Given the description of an element on the screen output the (x, y) to click on. 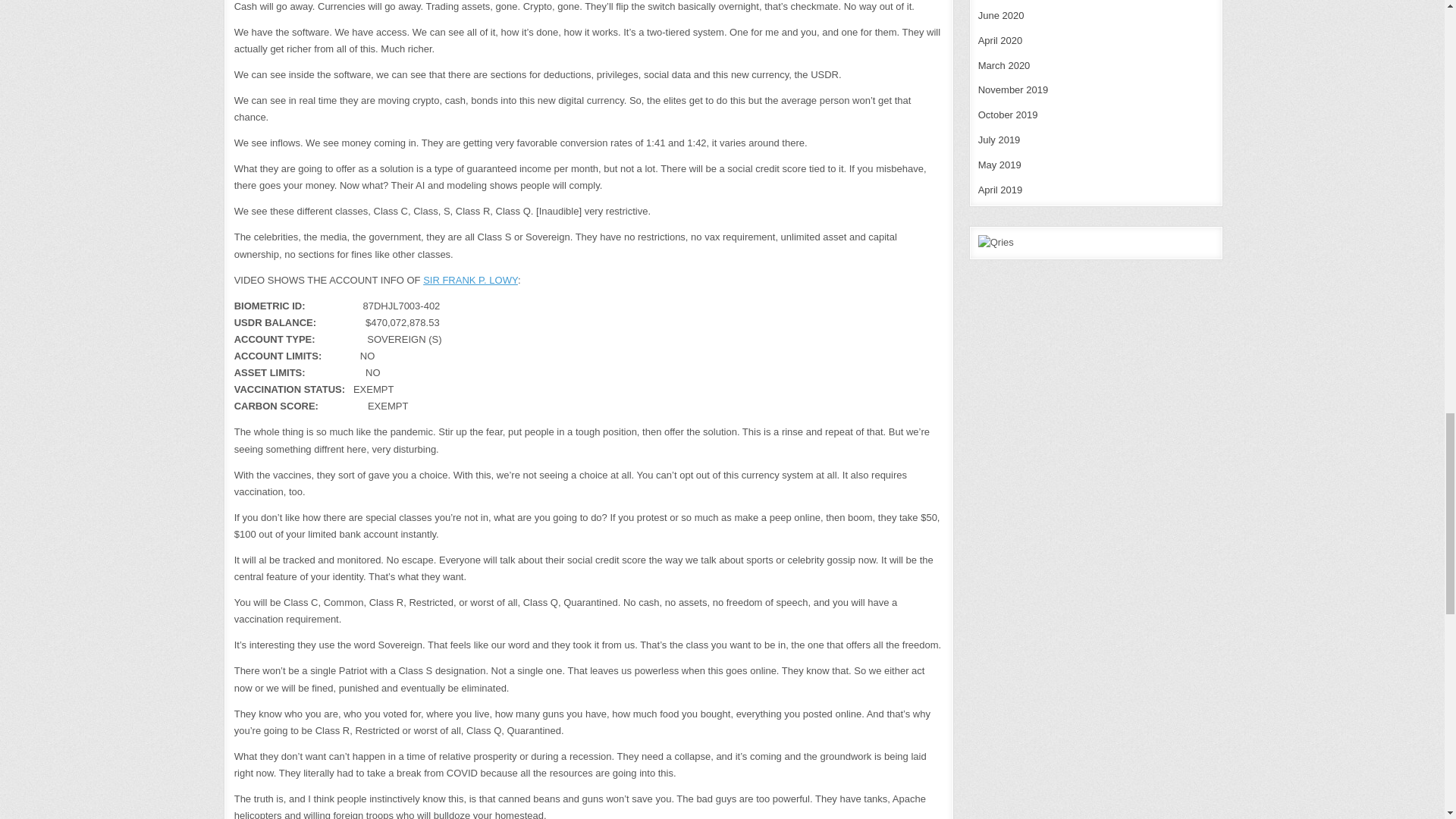
SIR FRANK P. LOWY (470, 279)
